Given the description of an element on the screen output the (x, y) to click on. 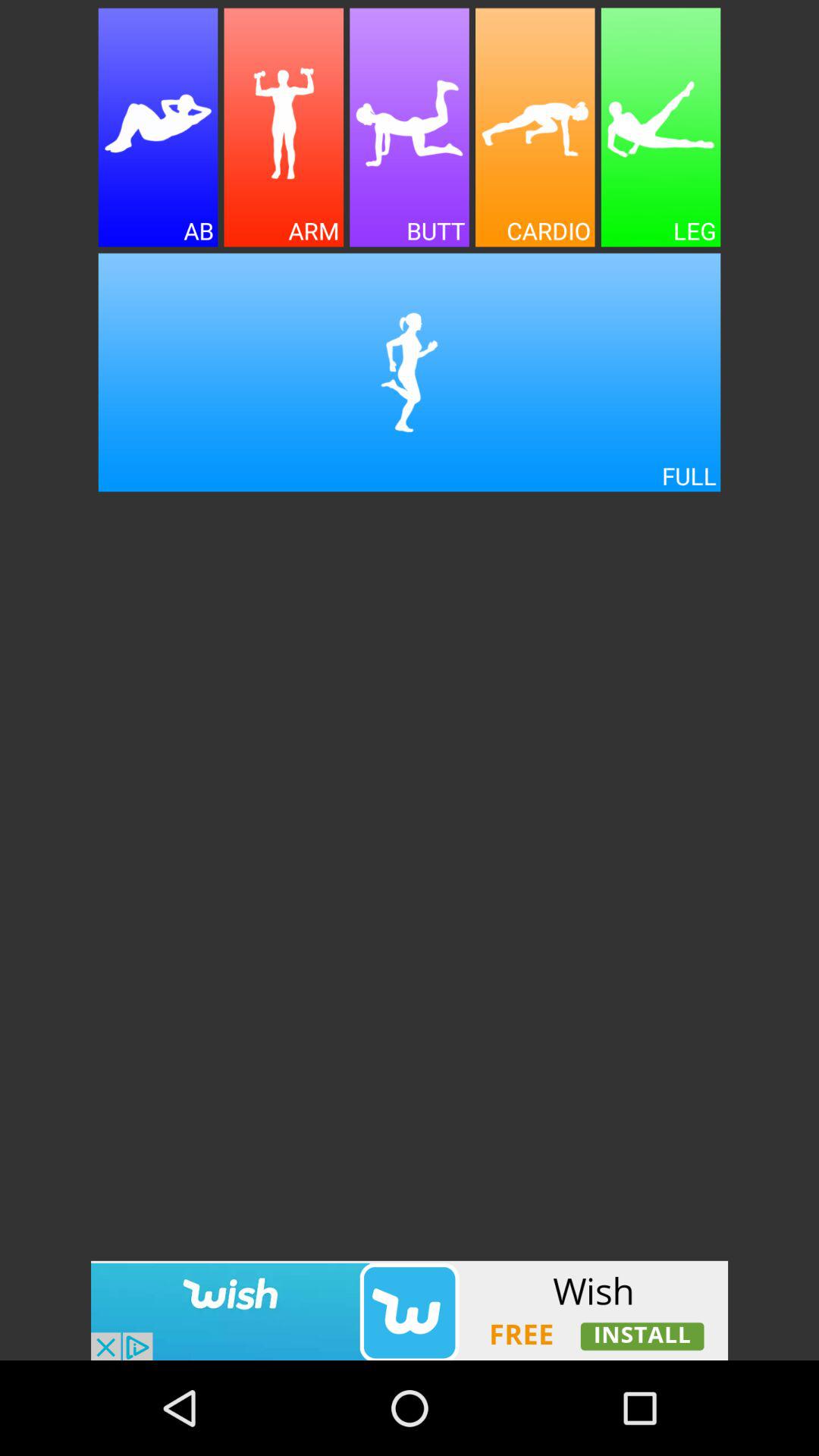
view full body workouts (409, 372)
